Given the description of an element on the screen output the (x, y) to click on. 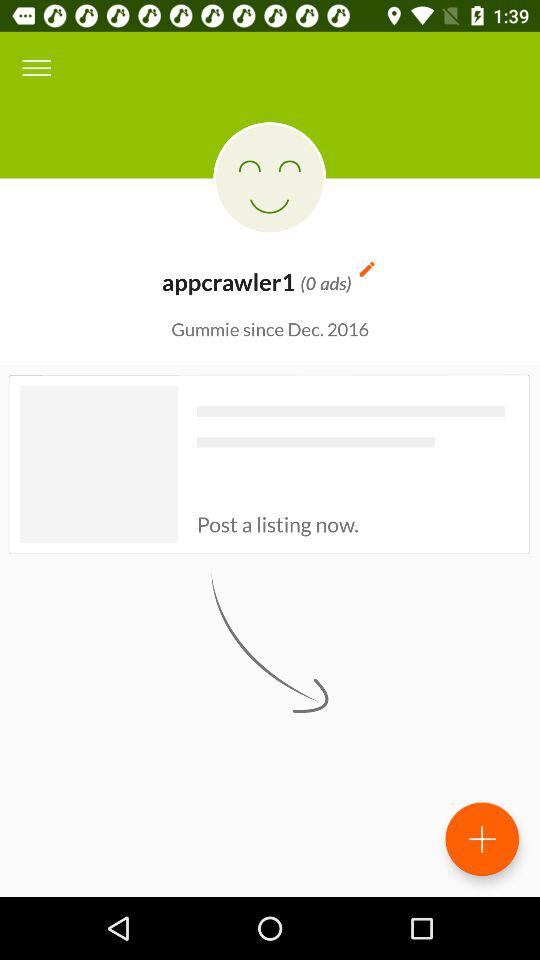
turn on item at the bottom right corner (482, 839)
